Given the description of an element on the screen output the (x, y) to click on. 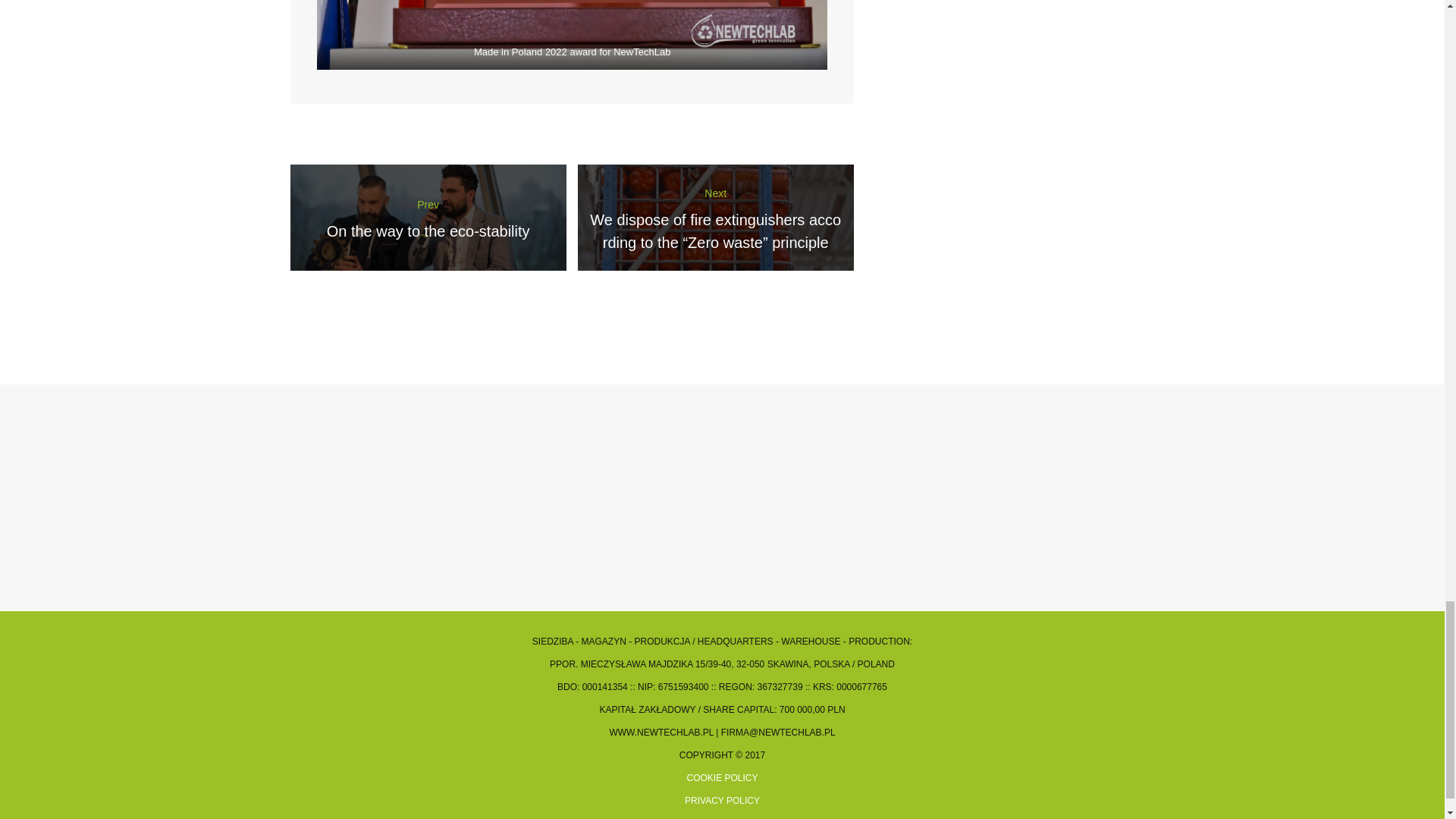
PRIVACY POLICY (722, 800)
COOKIE POLICY (427, 217)
